Given the description of an element on the screen output the (x, y) to click on. 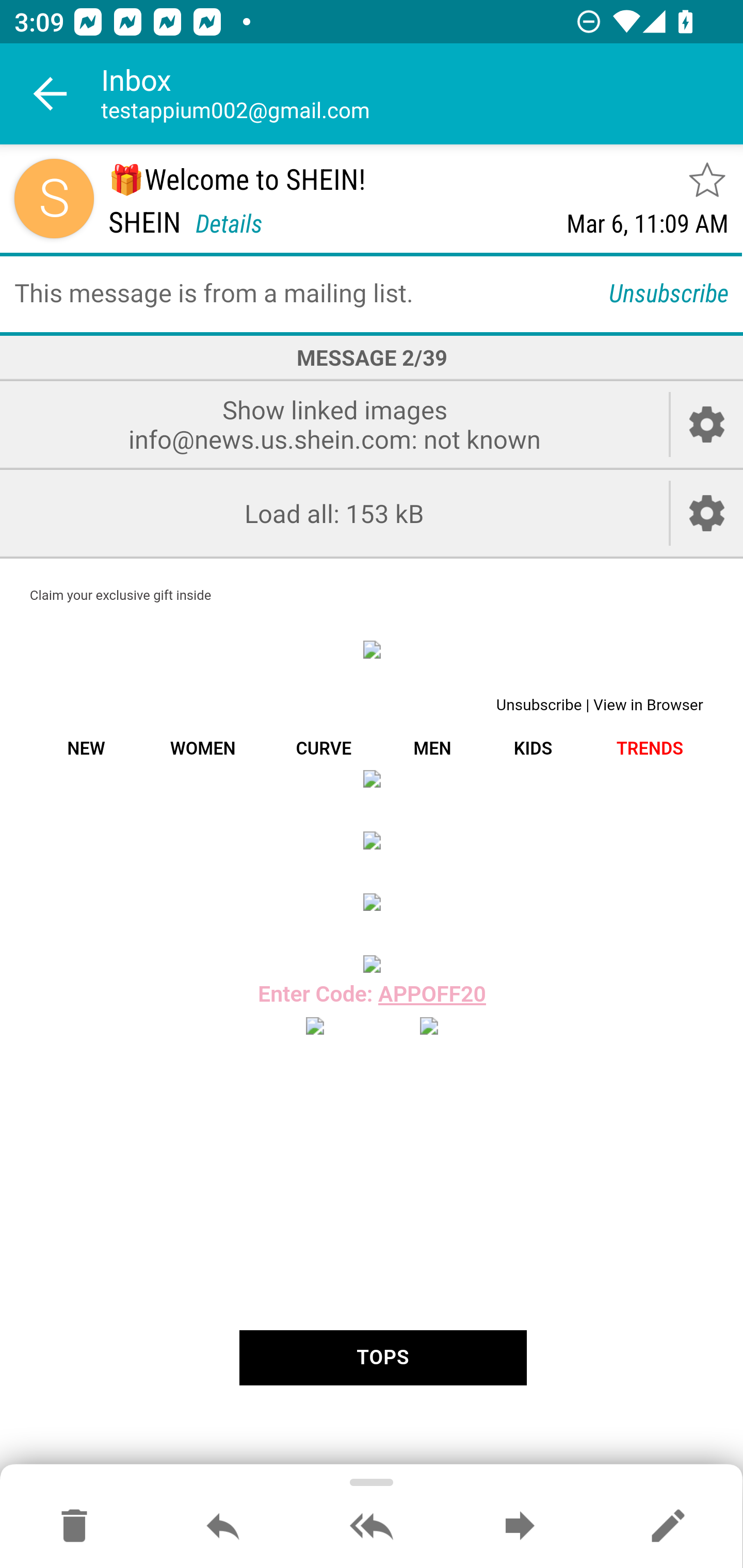
Navigate up (50, 93)
Inbox testappium002@gmail.com (422, 93)
Sender contact button (53, 198)
Unsubscribe (668, 292)
Account setup (706, 424)
Load all: 153 kB (334, 513)
Account setup (706, 513)
Claim your exclusive gift inside (120, 595)
shein (371, 648)
Unsubscribe  Unsubscribe   (540, 704)
View in Browser (648, 704)
NEW (86, 748)
WOMEN (202, 748)
CURVE (323, 748)
MEN (432, 748)
KIDS (532, 748)
TRENDS (649, 748)
EXTRA 20% OFF (371, 778)
EXPLORE MORE (371, 840)
SHOP BEST SELLERS (371, 901)
ios (314, 1026)
android (428, 1026)
TOPS (382, 1357)
Move to Deleted (74, 1527)
Reply (222, 1527)
Reply all (371, 1527)
Forward (519, 1527)
Reply as new (667, 1527)
